Given the description of an element on the screen output the (x, y) to click on. 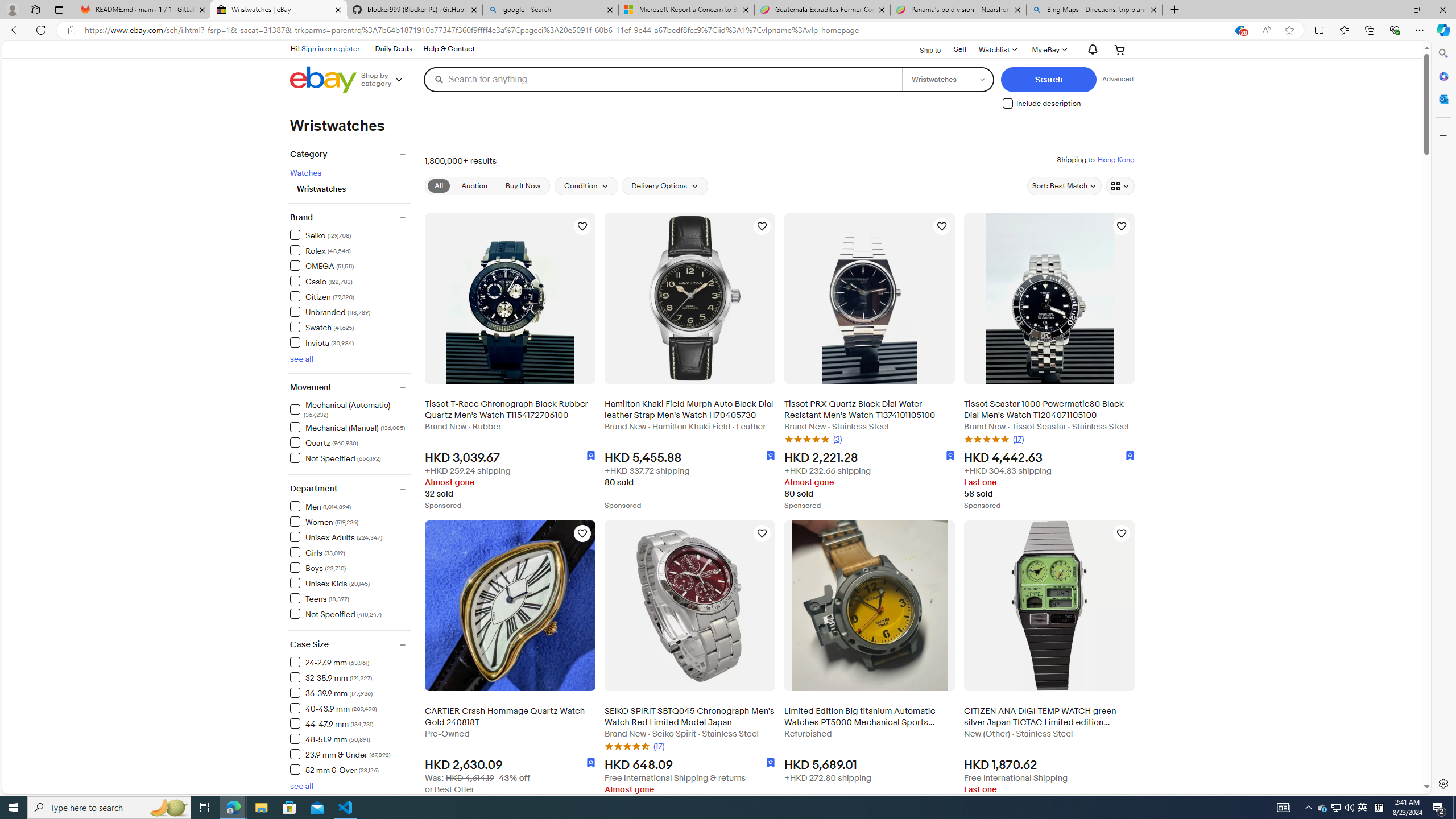
23.9 mm & Under (67,892) Items (339, 754)
40-43.9 mm (289,498) Items (333, 707)
Unbranded (118,789) Items (330, 311)
Your shopping cart (1120, 49)
Girls (33,019) Items (317, 552)
Mechanical (Automatic)(367,232) Items (349, 408)
Watches (305, 172)
Men (1,014,894) Items (319, 506)
see all - Case Size - opens dialog (301, 786)
